Given the description of an element on the screen output the (x, y) to click on. 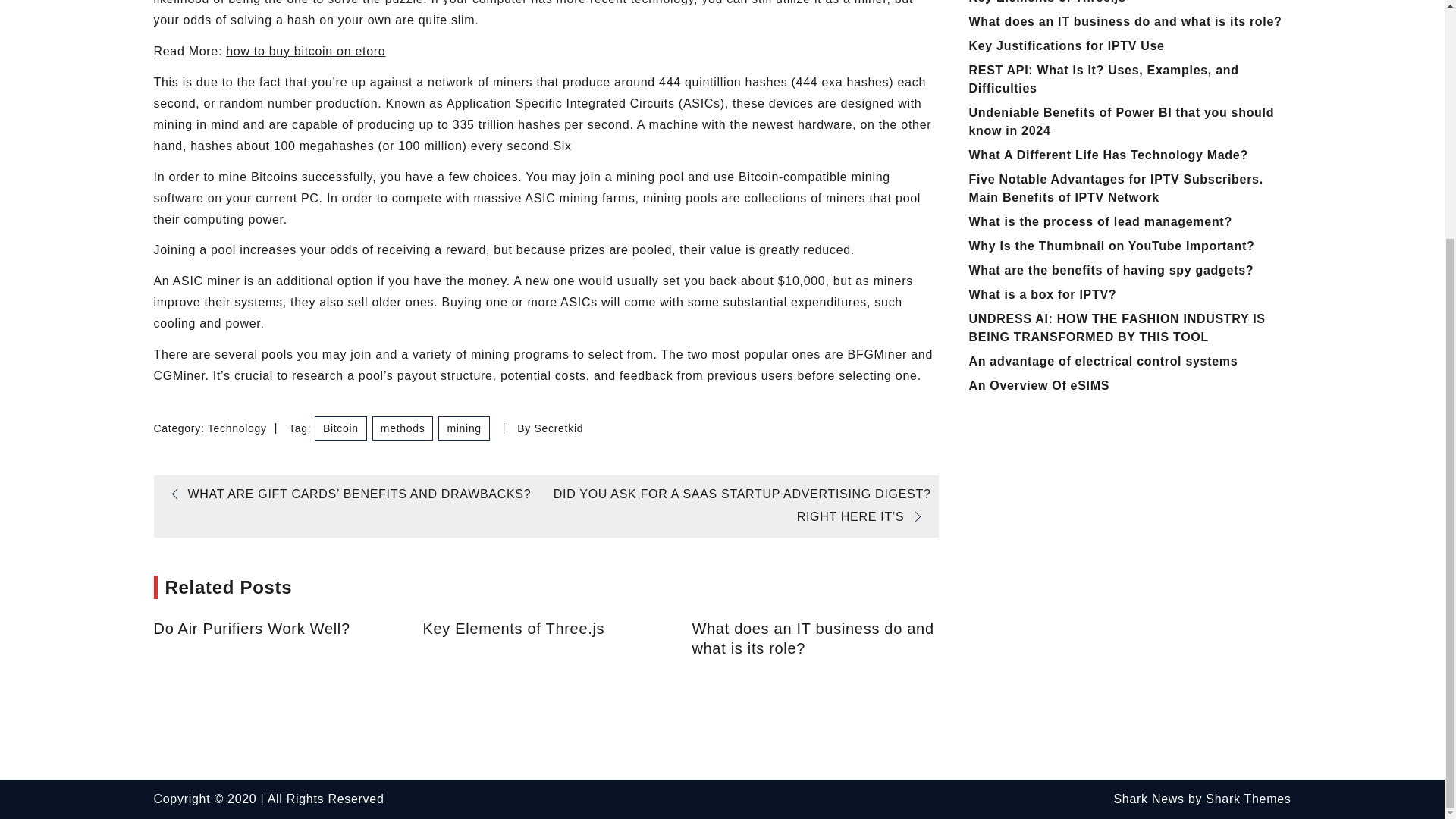
Key Elements of Three.js (1047, 2)
Shark Themes (1247, 798)
Do Air Purifiers Work Well? (275, 628)
how to buy bitcoin on etoro (305, 51)
What A Different Life Has Technology Made? (1108, 154)
Technology (237, 428)
Why Is the Thumbnail on YouTube Important? (1112, 245)
What is a box for IPTV? (1042, 294)
